Given the description of an element on the screen output the (x, y) to click on. 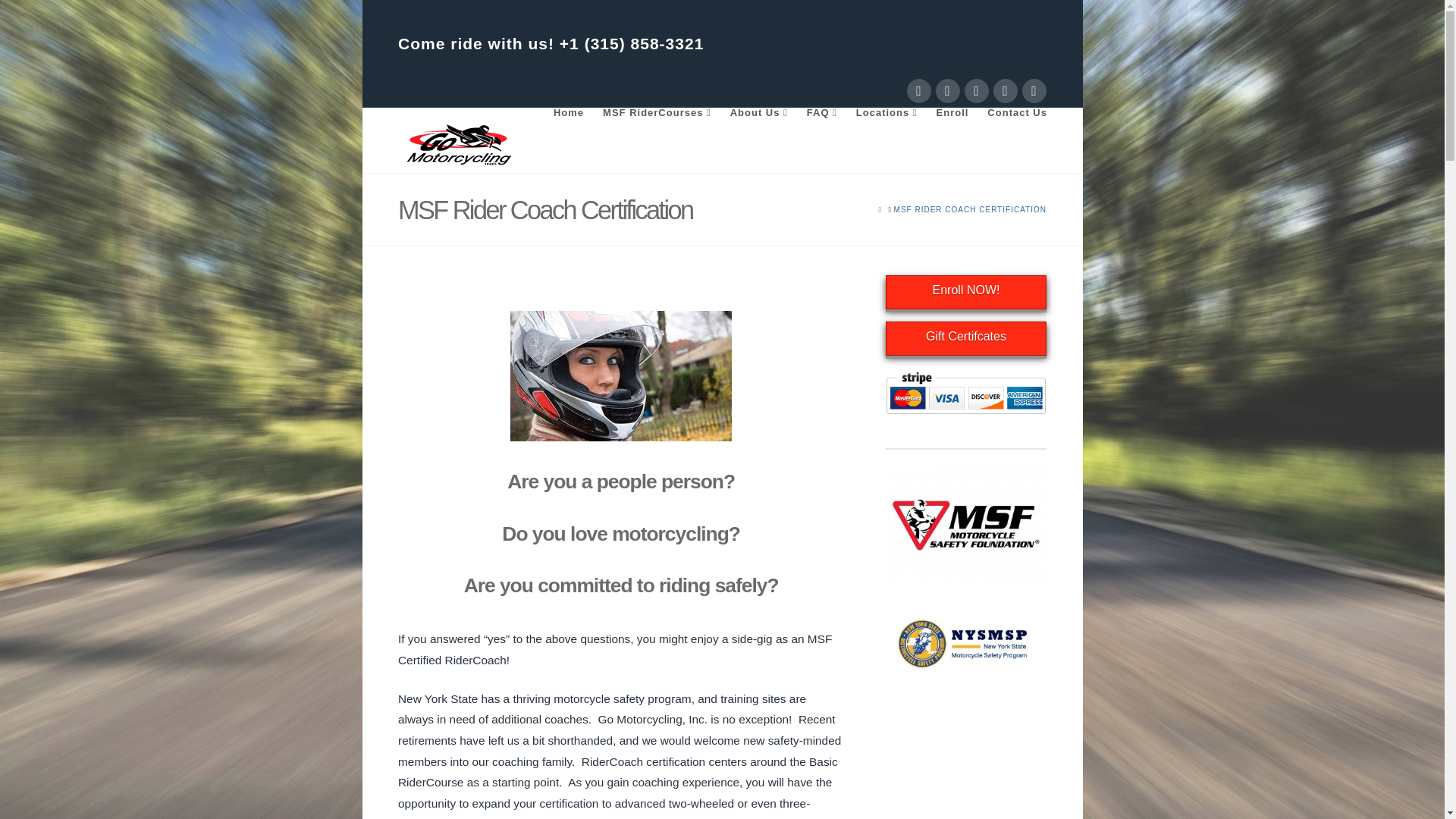
About Us (758, 118)
Locations (885, 118)
Enroll (952, 118)
MSF RiderCourses (656, 118)
Facebook (919, 90)
You Are Here (969, 209)
FAQ (820, 118)
Instagram (1004, 90)
Home (567, 118)
Pinterest (1034, 90)
Contact Us (1011, 118)
LinkedIn (975, 90)
